Given the description of an element on the screen output the (x, y) to click on. 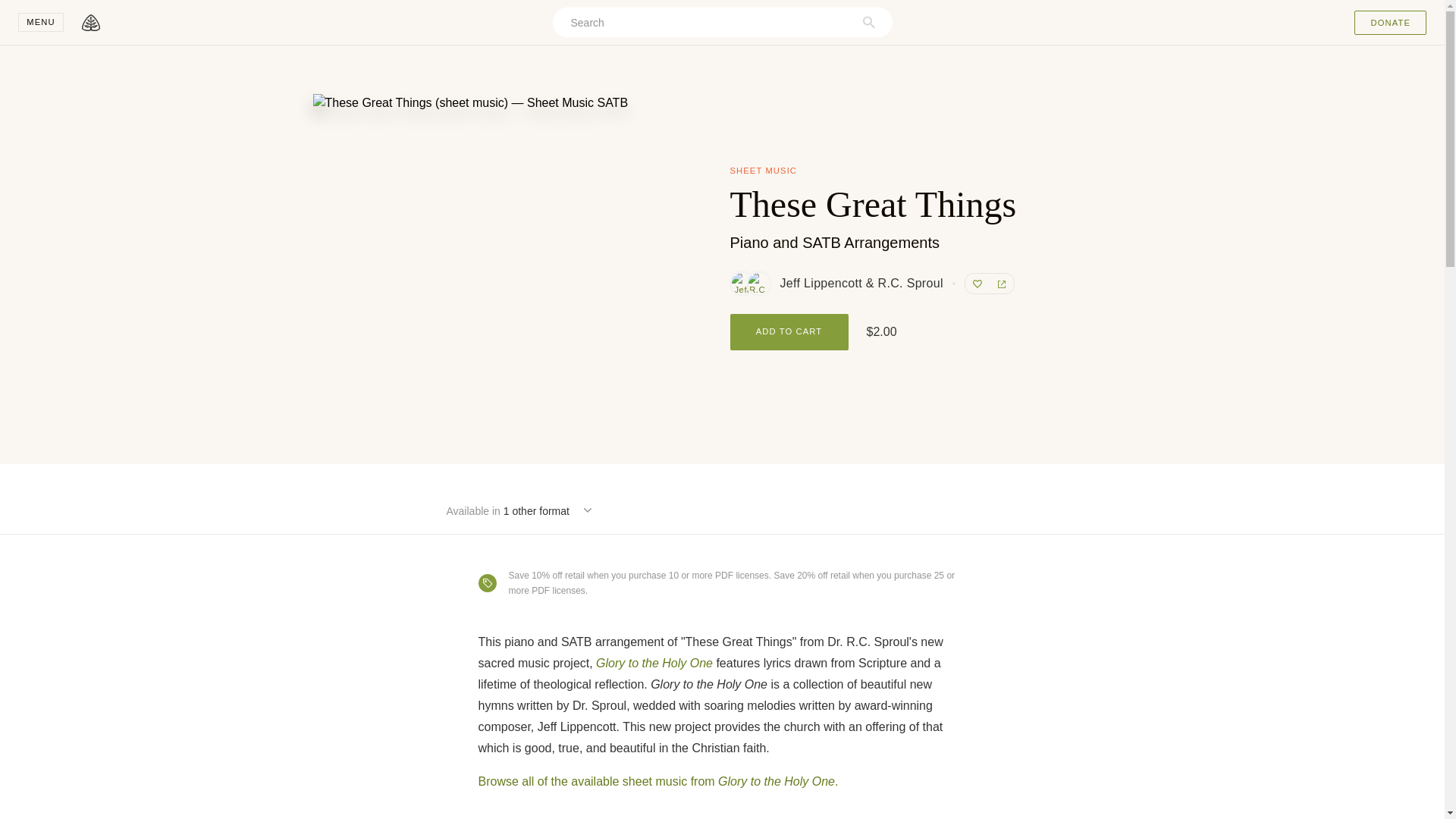
MENU (40, 22)
Jeff Lippencott (741, 283)
R.C. Sproul (757, 283)
